Given the description of an element on the screen output the (x, y) to click on. 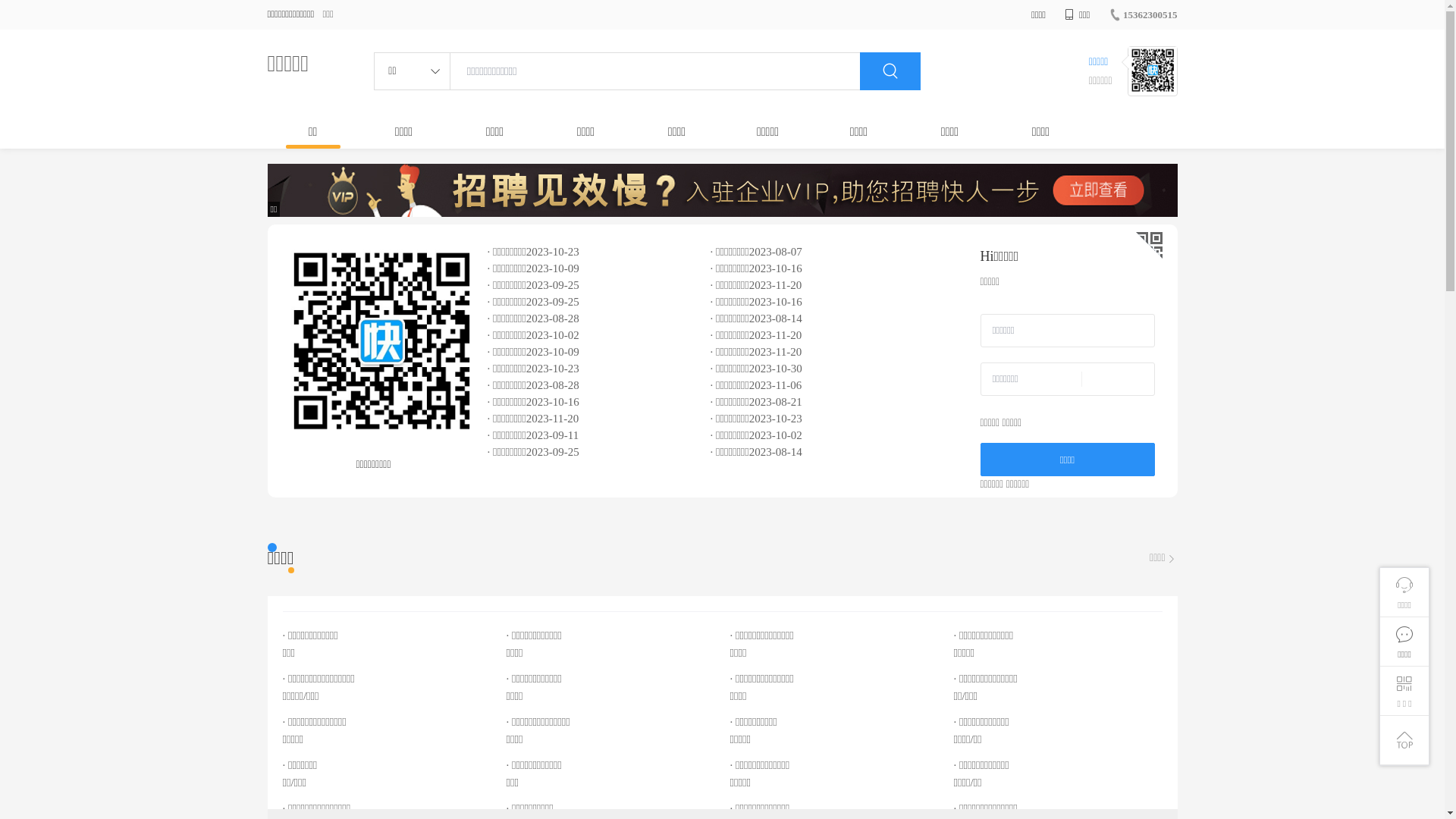
15362300515 Element type: text (1142, 14)
